Given the description of an element on the screen output the (x, y) to click on. 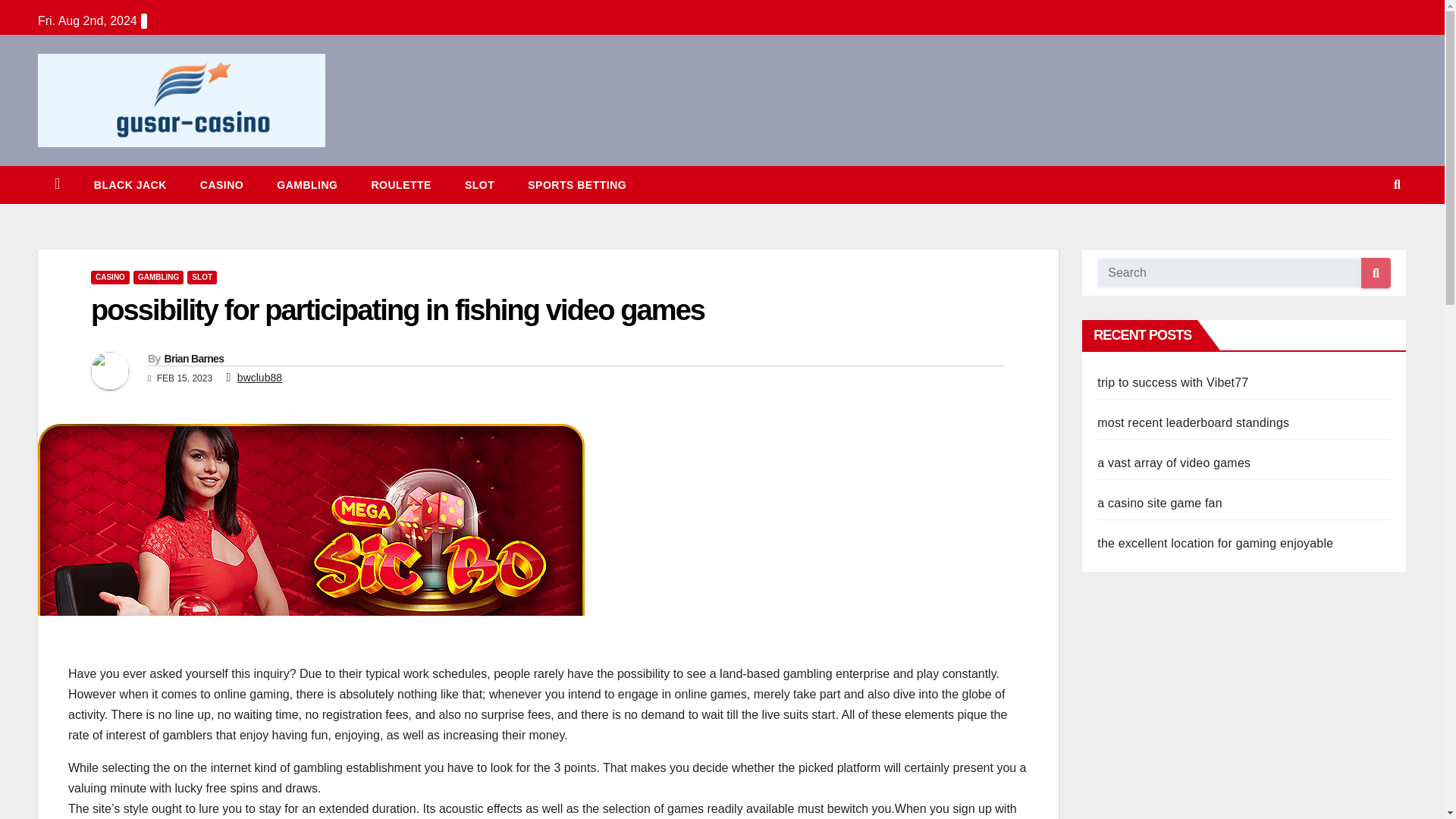
GAMBLING (158, 277)
BLACK JACK (130, 184)
CASINO (221, 184)
ROULETTE (399, 184)
ROULETTE (399, 184)
Brian Barnes (193, 358)
SPORTS BETTING (577, 184)
SLOT (479, 184)
bwclub88 (259, 377)
GAMBLING (306, 184)
possibility for participating in fishing video games (397, 309)
GAMBLING (306, 184)
BLACK JACK (130, 184)
SPORTS BETTING (577, 184)
SLOT (479, 184)
